Given the description of an element on the screen output the (x, y) to click on. 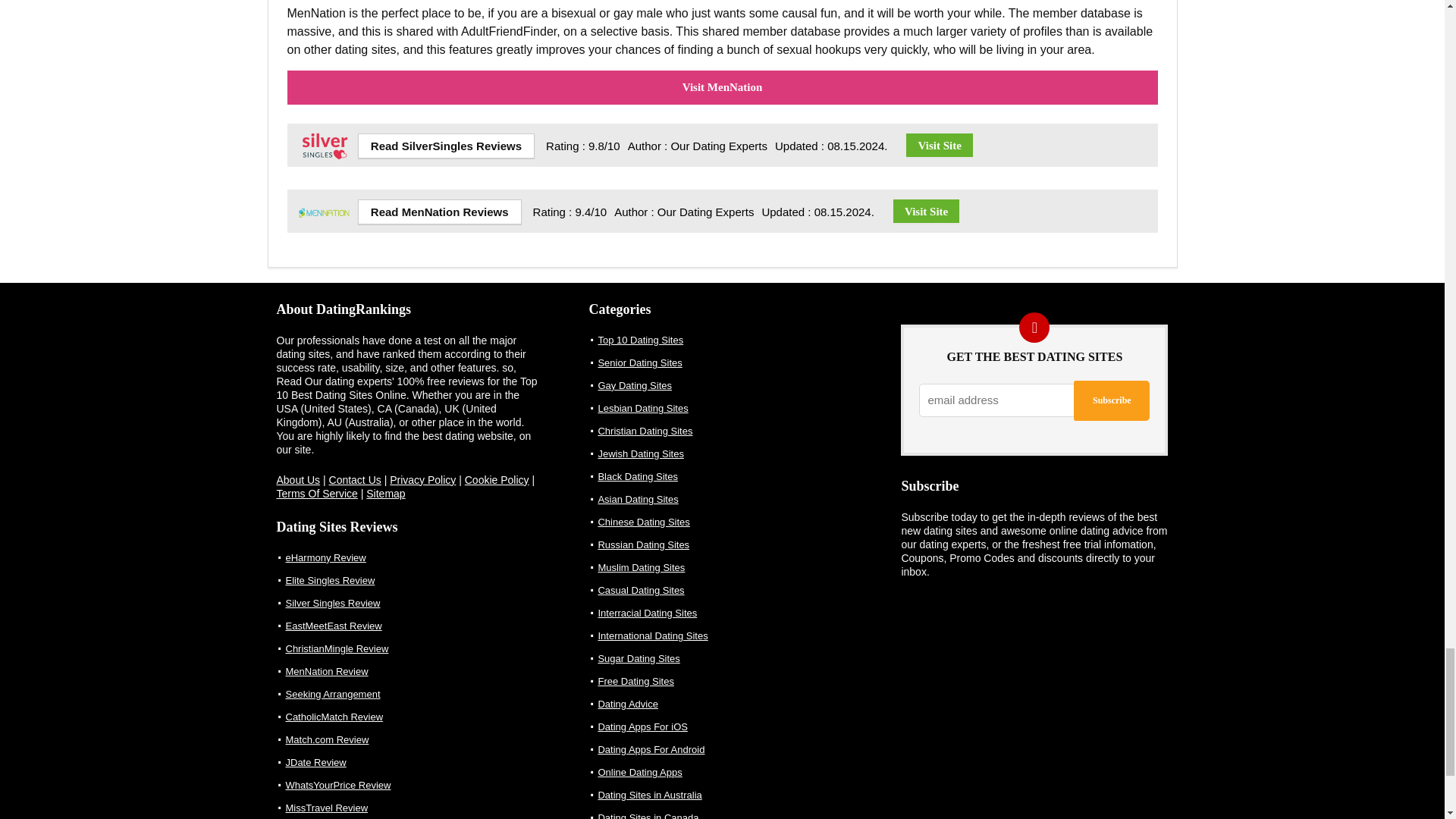
Visit MenNation (926, 210)
MenNation Reviews (324, 199)
MenNation Reviews (439, 211)
Subscribe (1112, 400)
SilverSingles Reviews (324, 133)
SilverSingles Reviews (446, 145)
Visit SilverSingles (938, 145)
